Given the description of an element on the screen output the (x, y) to click on. 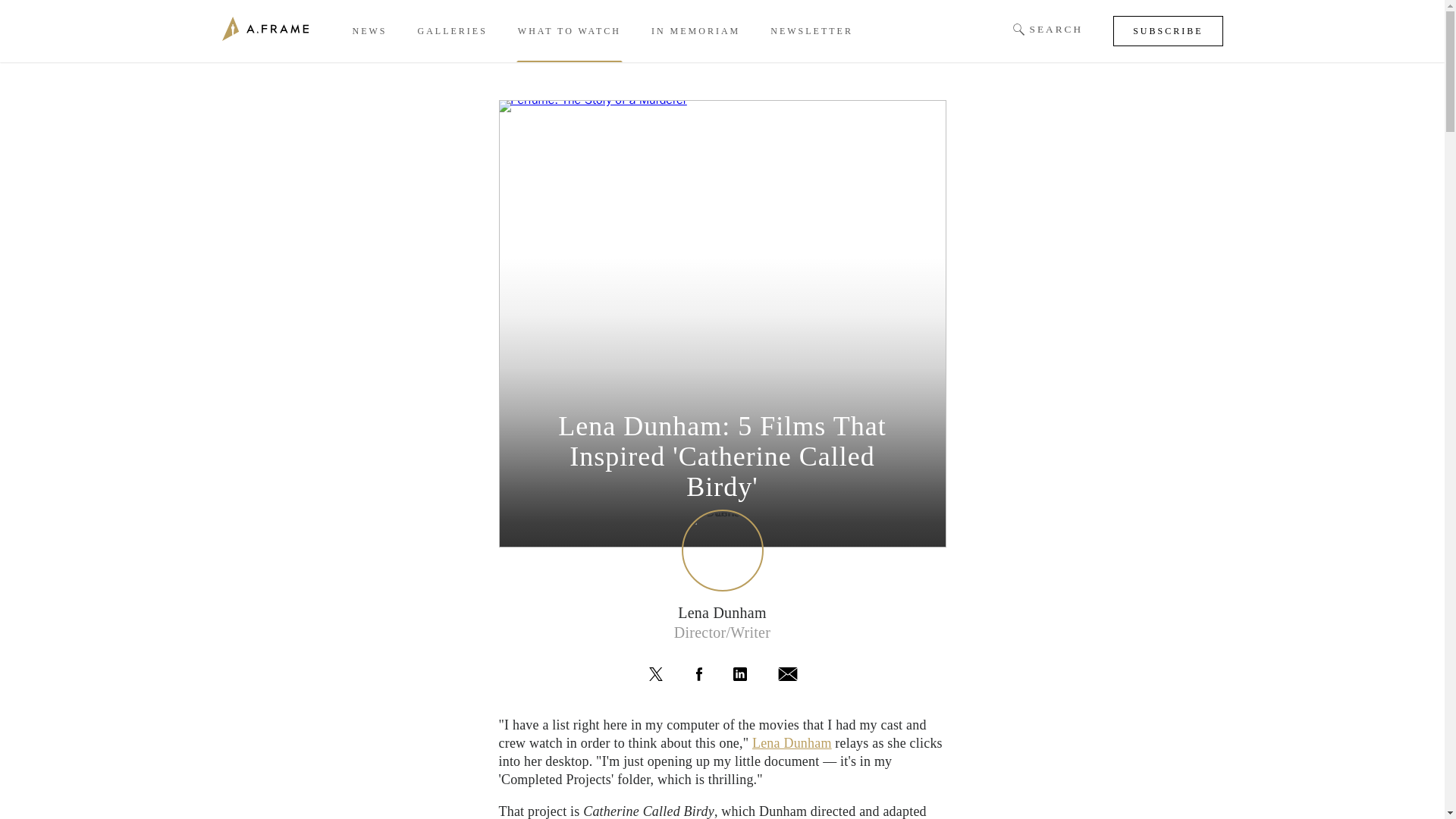
NEWSLETTER (811, 31)
GALLERIES (450, 31)
WHAT TO WATCH (569, 31)
SUBSCRIBE (1168, 30)
Lena Dunham (791, 743)
IN MEMORIAM (695, 31)
SEARCH (1048, 30)
